Given the description of an element on the screen output the (x, y) to click on. 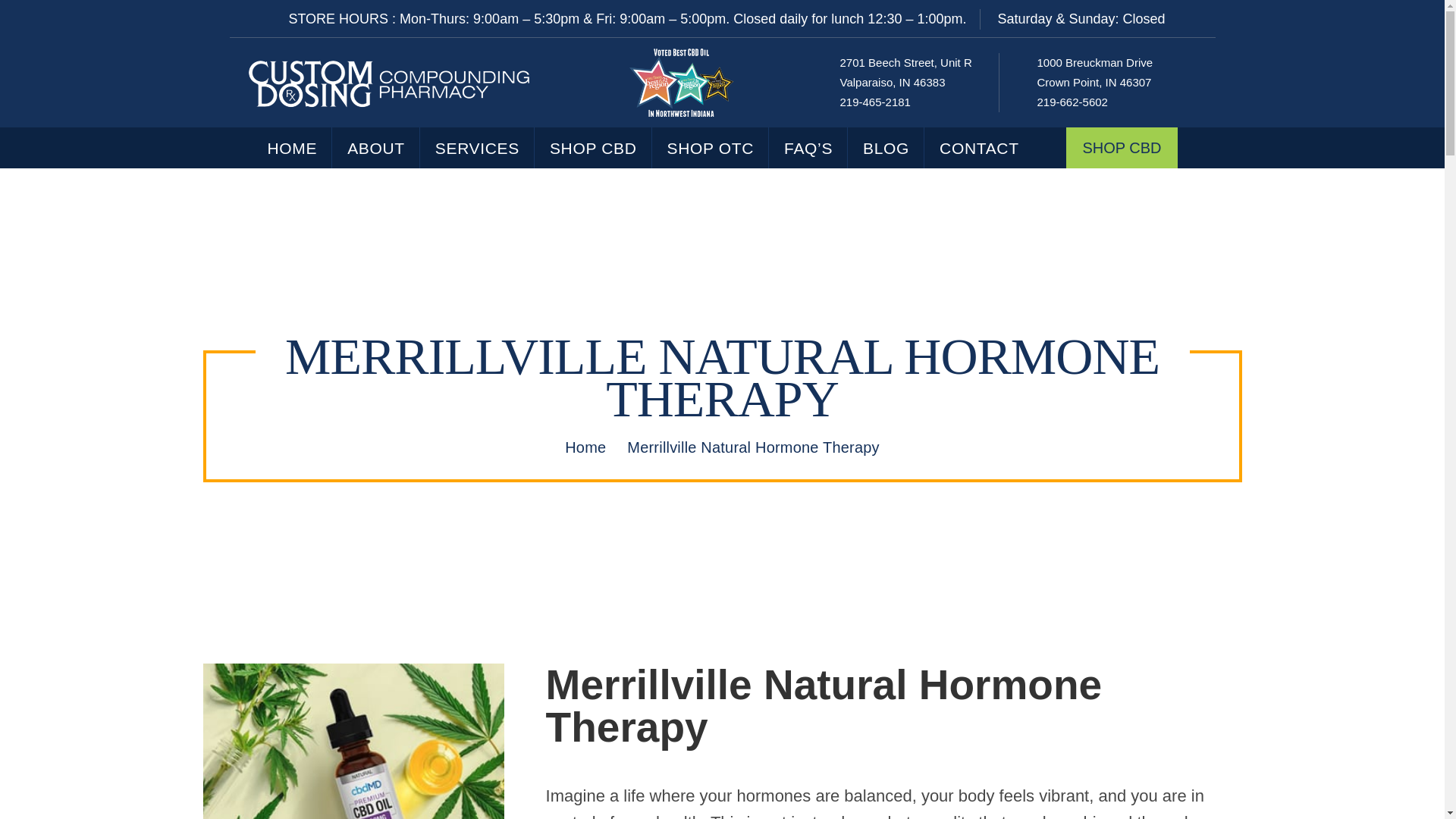
SHOP CBD (593, 147)
Go to Custom Dosing Pharmacy. (584, 446)
219-662-5602 (1072, 101)
SHOP OTC (711, 147)
ABOUT (375, 147)
219-465-2181 (875, 101)
SERVICES (1094, 72)
HOME (906, 72)
